Given the description of an element on the screen output the (x, y) to click on. 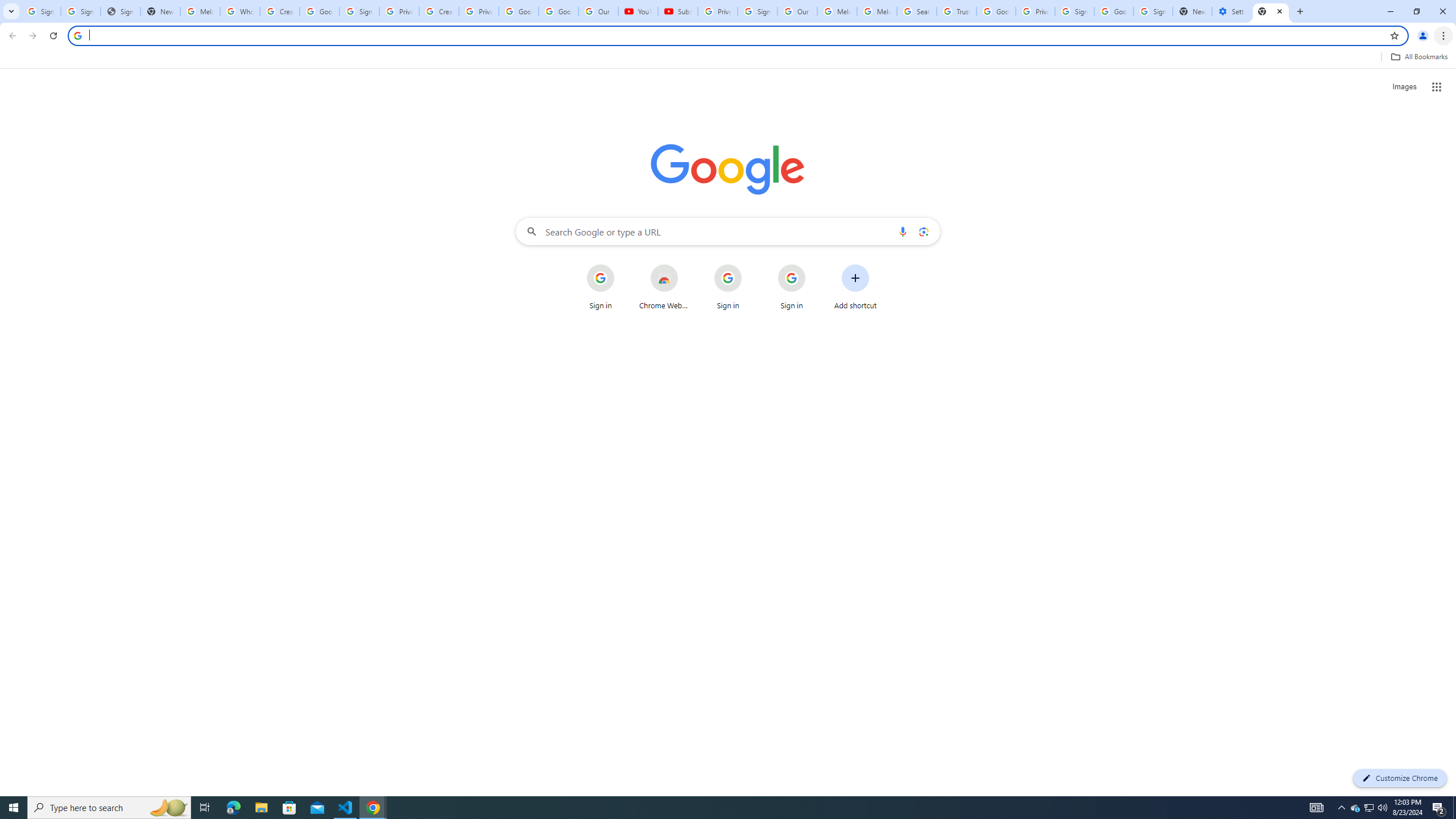
Subscriptions - YouTube (677, 11)
Who is my administrator? - Google Account Help (239, 11)
More actions for Chrome Web Store shortcut (686, 265)
Search for Images  (1403, 87)
Search Google or type a URL (727, 230)
All Bookmarks (1418, 56)
Sign In - USA TODAY (120, 11)
Sign in - Google Accounts (1074, 11)
Trusted Information and Content - Google Safety Center (956, 11)
